Given the description of an element on the screen output the (x, y) to click on. 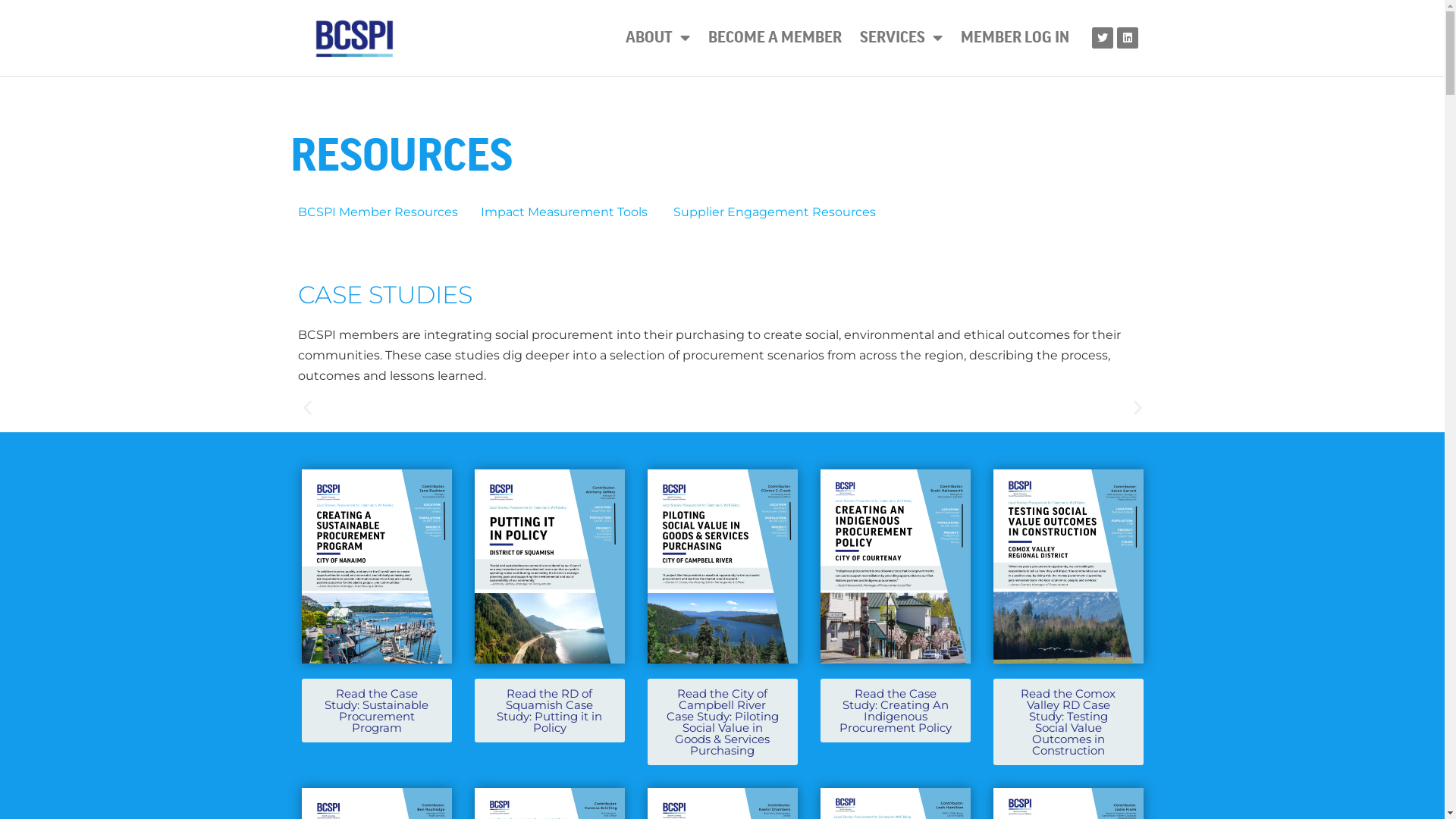
Supplier Engagement Resources Element type: text (785, 211)
MEMBER LOG IN Element type: text (1014, 37)
Read the Case Study: Sustainable Procurement Program Element type: text (376, 710)
Read the RD of Squamish Case Study: Putting it in Policy Element type: text (549, 710)
SERVICES Element type: text (900, 37)
BCSPI Member Resources Element type: text (388, 211)
BECOME A MEMBER Element type: text (774, 37)
Impact Measurement Tools Element type: text (575, 211)
ABOUT Element type: text (657, 37)
